Given the description of an element on the screen output the (x, y) to click on. 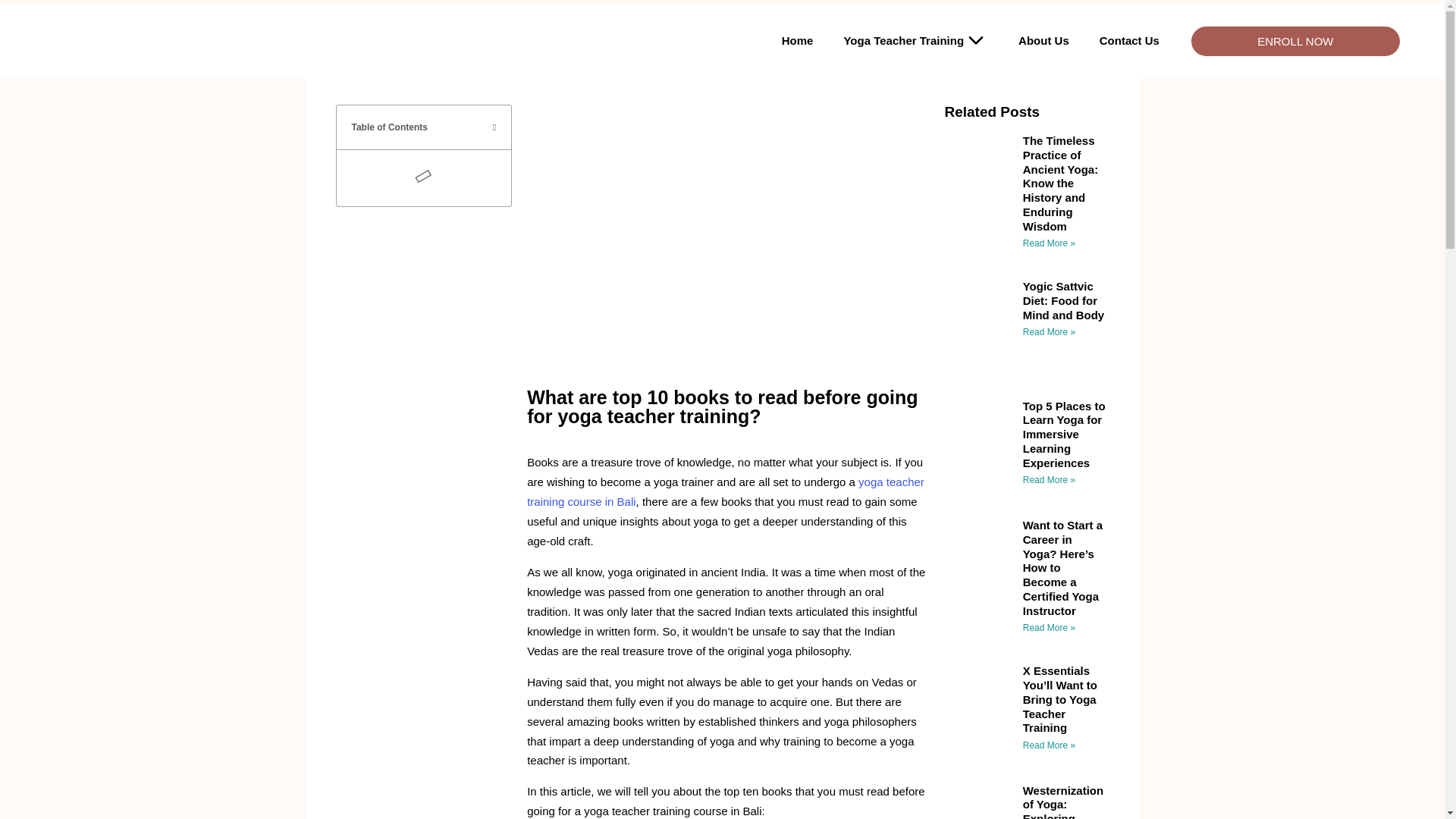
Contact Us (1129, 40)
Home (797, 40)
Yoga Teacher Training (915, 40)
About Us (1043, 40)
ENROLL NOW (1294, 40)
